Given the description of an element on the screen output the (x, y) to click on. 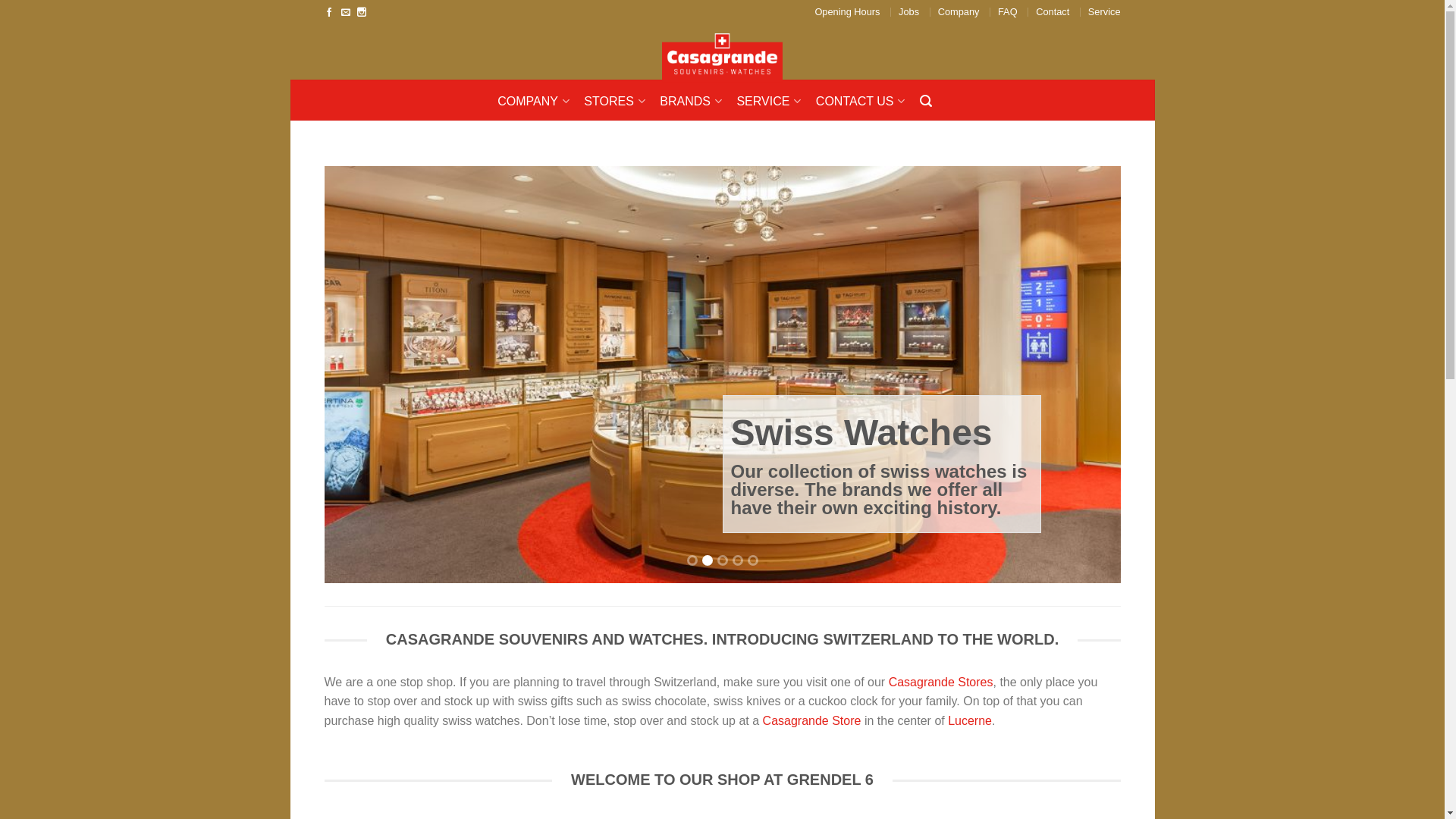
Casagrande Store Element type: text (811, 720)
COMPANY Element type: text (538, 101)
Casagrande Stores Element type: text (940, 681)
Jobs Element type: text (908, 11)
Company Element type: text (958, 11)
SERVICE Element type: text (774, 101)
CONTACT US Element type: text (865, 101)
Service Element type: text (1104, 11)
Opening Hours Element type: text (846, 11)
Contact Element type: text (1052, 11)
BRANDS Element type: text (696, 101)
Lucerne Element type: text (969, 720)
FAQ Element type: text (1007, 11)
STORES Element type: text (619, 101)
